Given the description of an element on the screen output the (x, y) to click on. 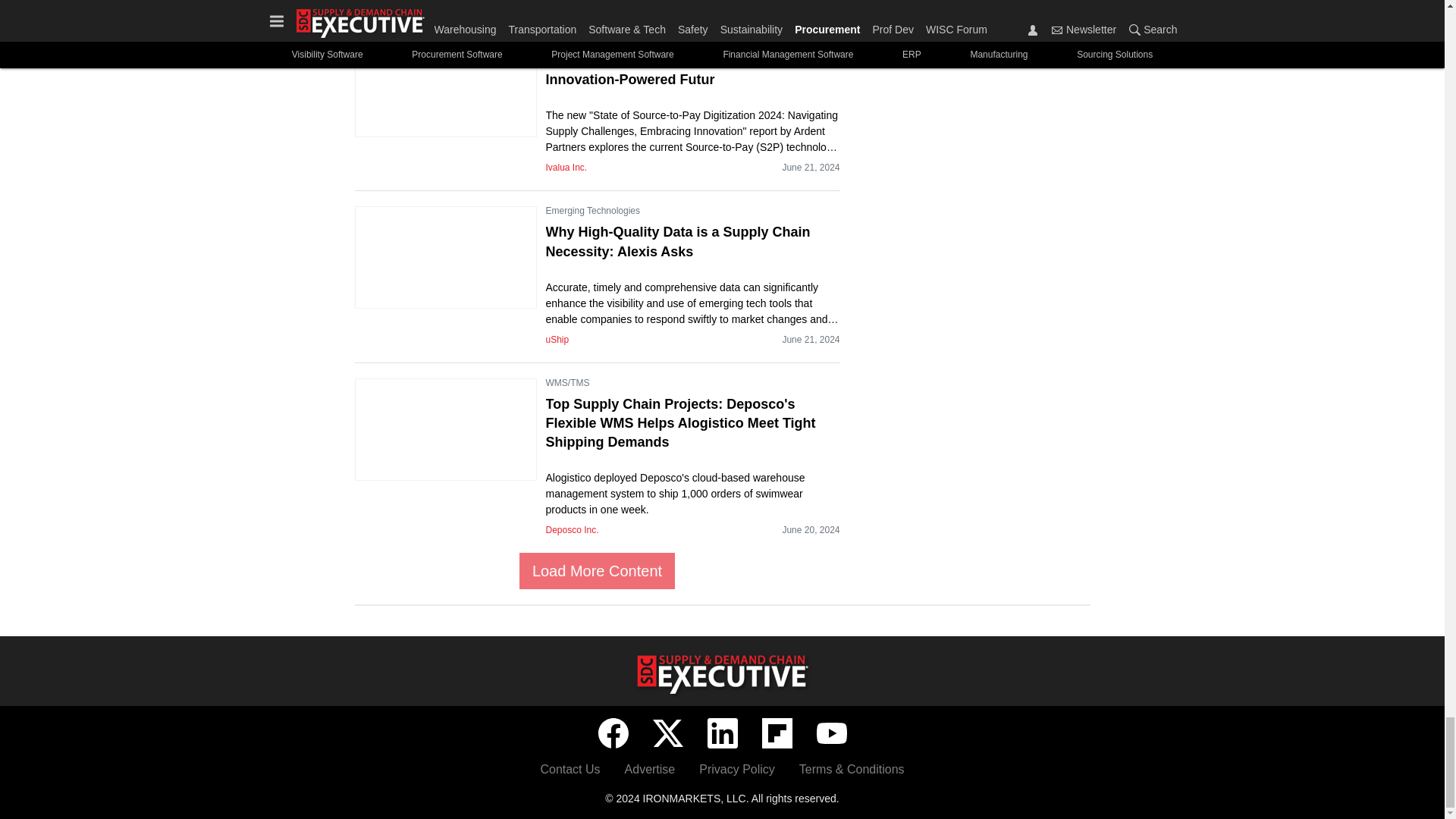
Flipboard icon (776, 733)
LinkedIn icon (721, 733)
Facebook icon (611, 733)
YouTube icon (830, 733)
Twitter X icon (667, 733)
